Given the description of an element on the screen output the (x, y) to click on. 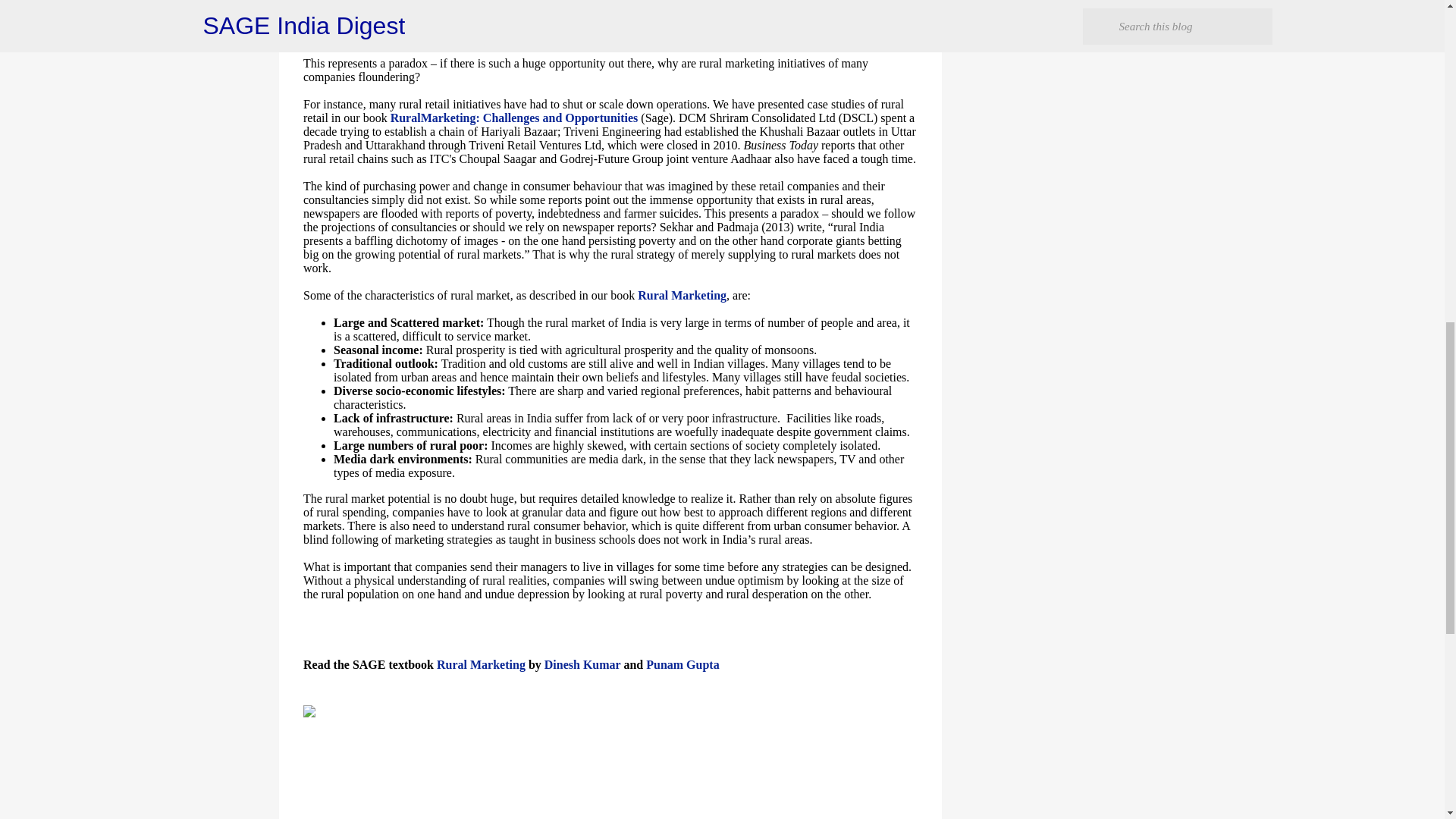
Rural Marketing (480, 664)
RuralMarketing: Challenges and Opportunities (514, 117)
Dinesh Kumar (582, 664)
here (485, 817)
Punam Gupta (682, 664)
Rural Marketing (681, 295)
